Given the description of an element on the screen output the (x, y) to click on. 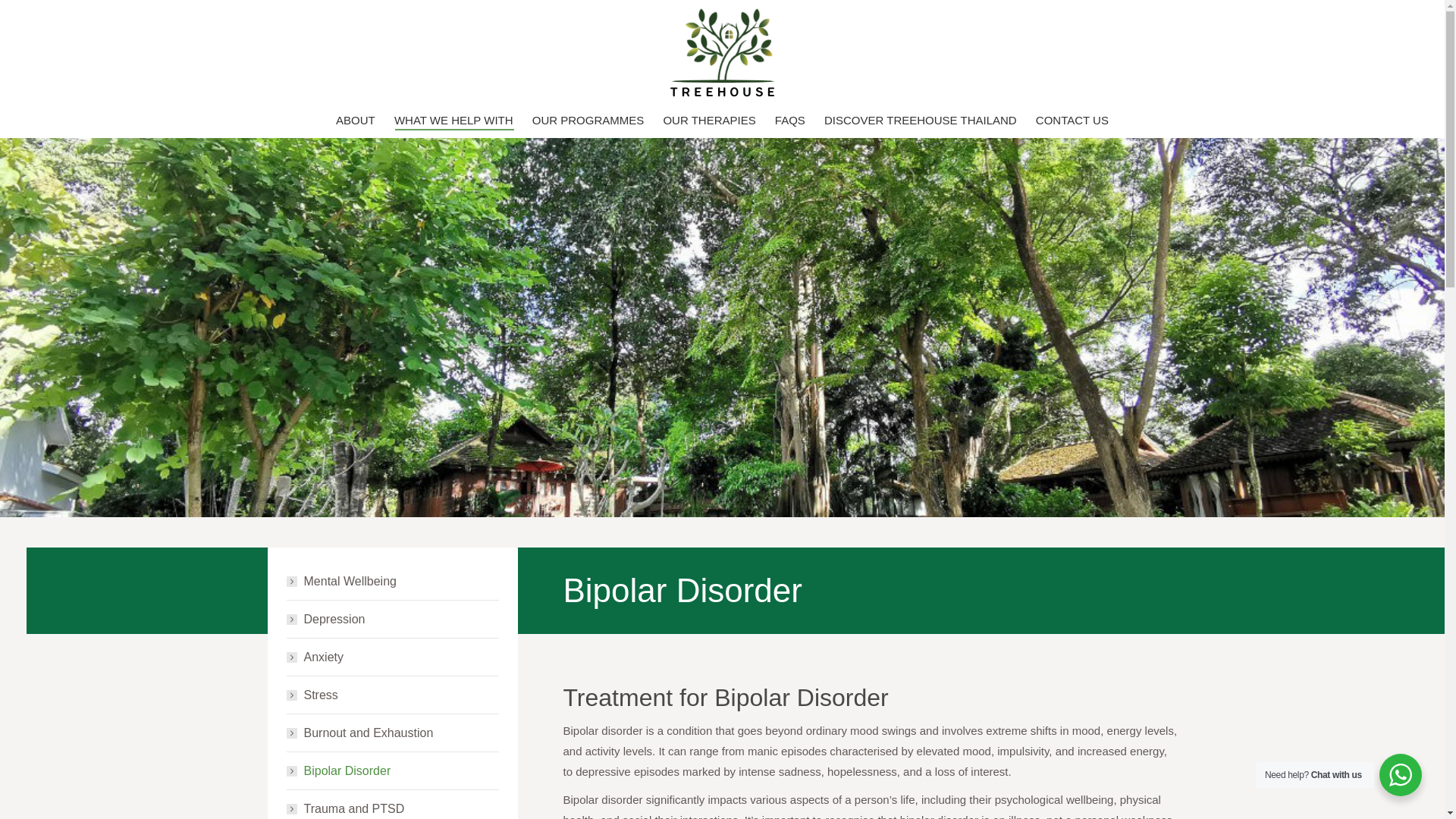
OUR THERAPIES (708, 119)
FAQS (789, 119)
CONTACT US (1072, 119)
DISCOVER TREEHOUSE THAILAND (920, 119)
WHAT WE HELP WITH (453, 119)
OUR PROGRAMMES (587, 119)
ABOUT (354, 119)
